Given the description of an element on the screen output the (x, y) to click on. 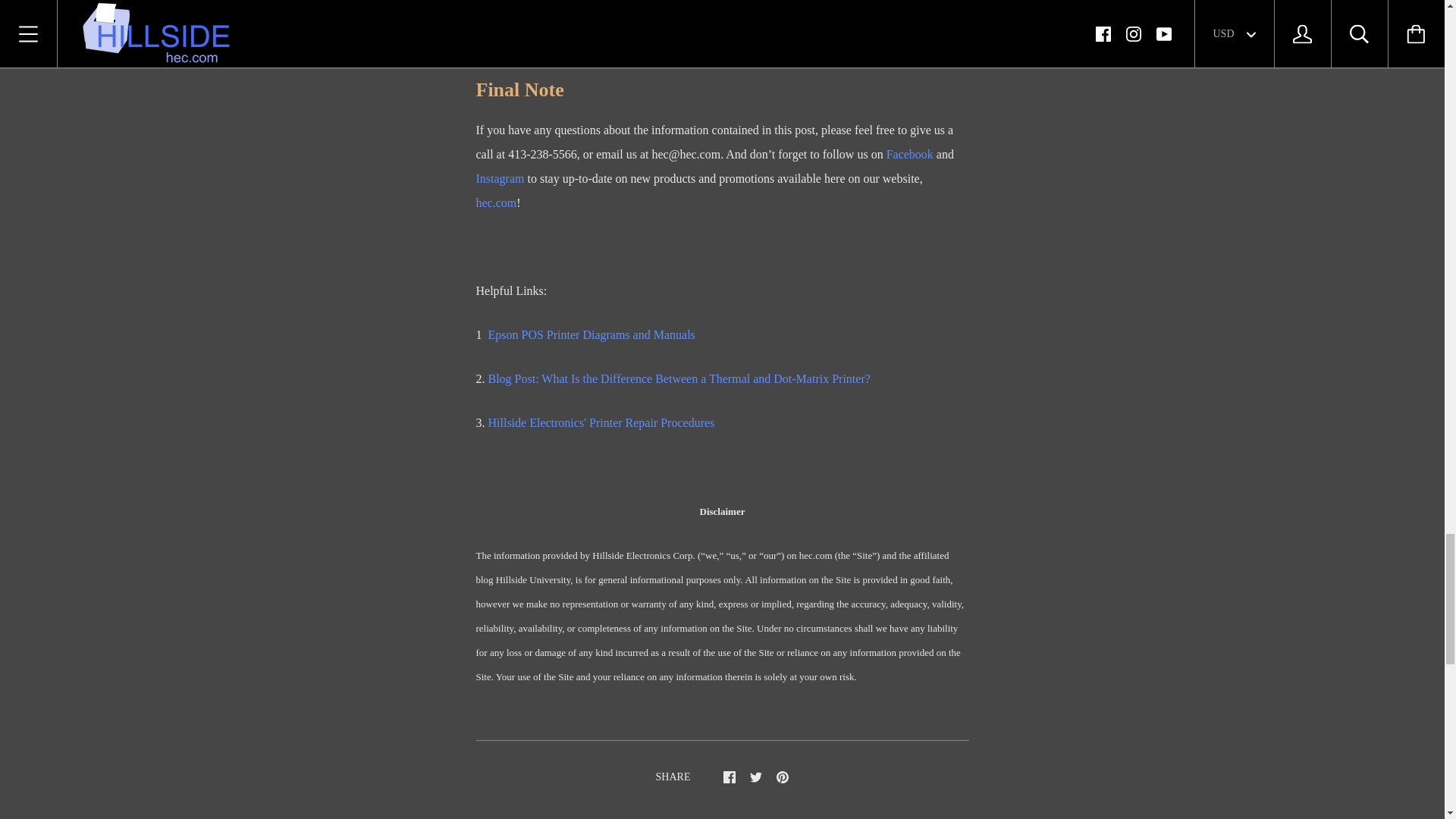
Hillside Electronics Corp. Instagram (500, 178)
Hillside Electronics Inc. Website, hec.com (496, 202)
Hillside Electronics Corp. Facebook (909, 154)
Hillside Electronics' Printer Repair Procedures (600, 422)
Epson Diagrams and Manuals (591, 334)
